Given the description of an element on the screen output the (x, y) to click on. 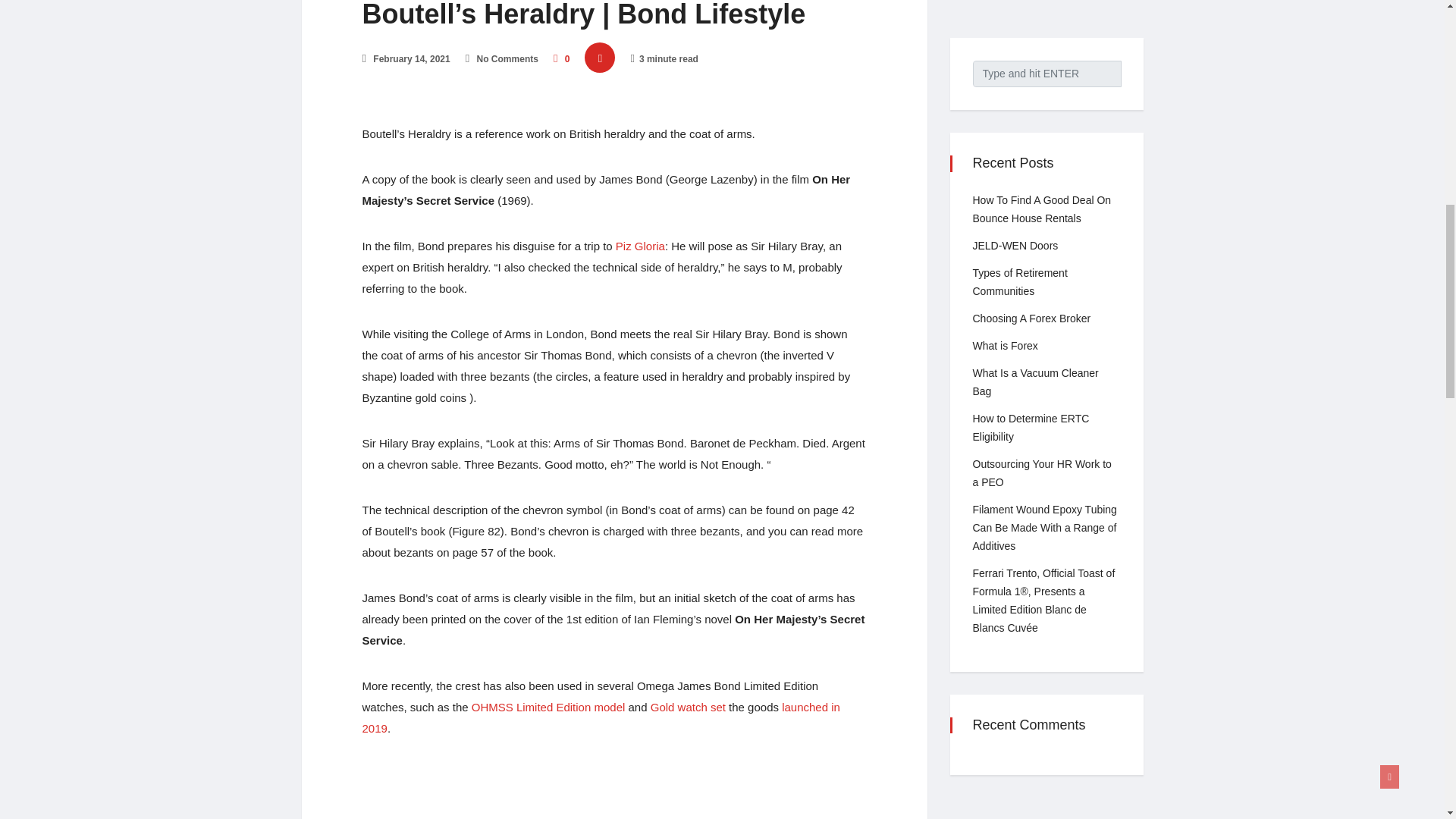
Piz Gloria (640, 245)
Gold watch set (687, 707)
OHMSS Limited Edition model (548, 707)
launched in 2019 (601, 717)
